Given the description of an element on the screen output the (x, y) to click on. 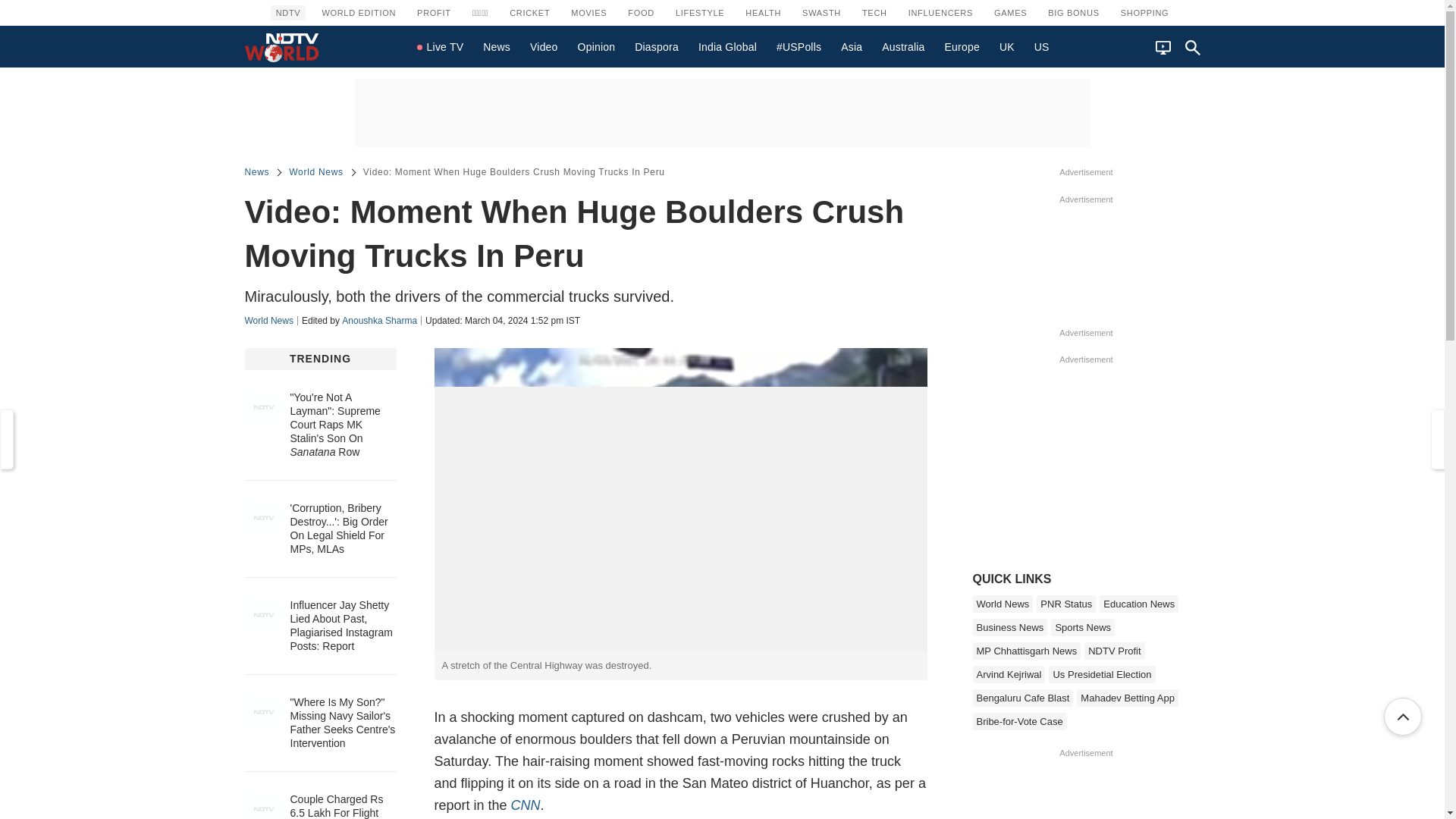
Australia (902, 47)
Opinion (596, 47)
GAMES (1010, 12)
PROFIT (434, 12)
News (497, 47)
WORLD EDITION (358, 12)
World News (315, 171)
Diaspora (656, 47)
US (1041, 47)
India Global (727, 47)
MOVIES (588, 12)
BIG BONUS (1072, 12)
FOOD (641, 12)
Europe (962, 47)
News (497, 47)
